Given the description of an element on the screen output the (x, y) to click on. 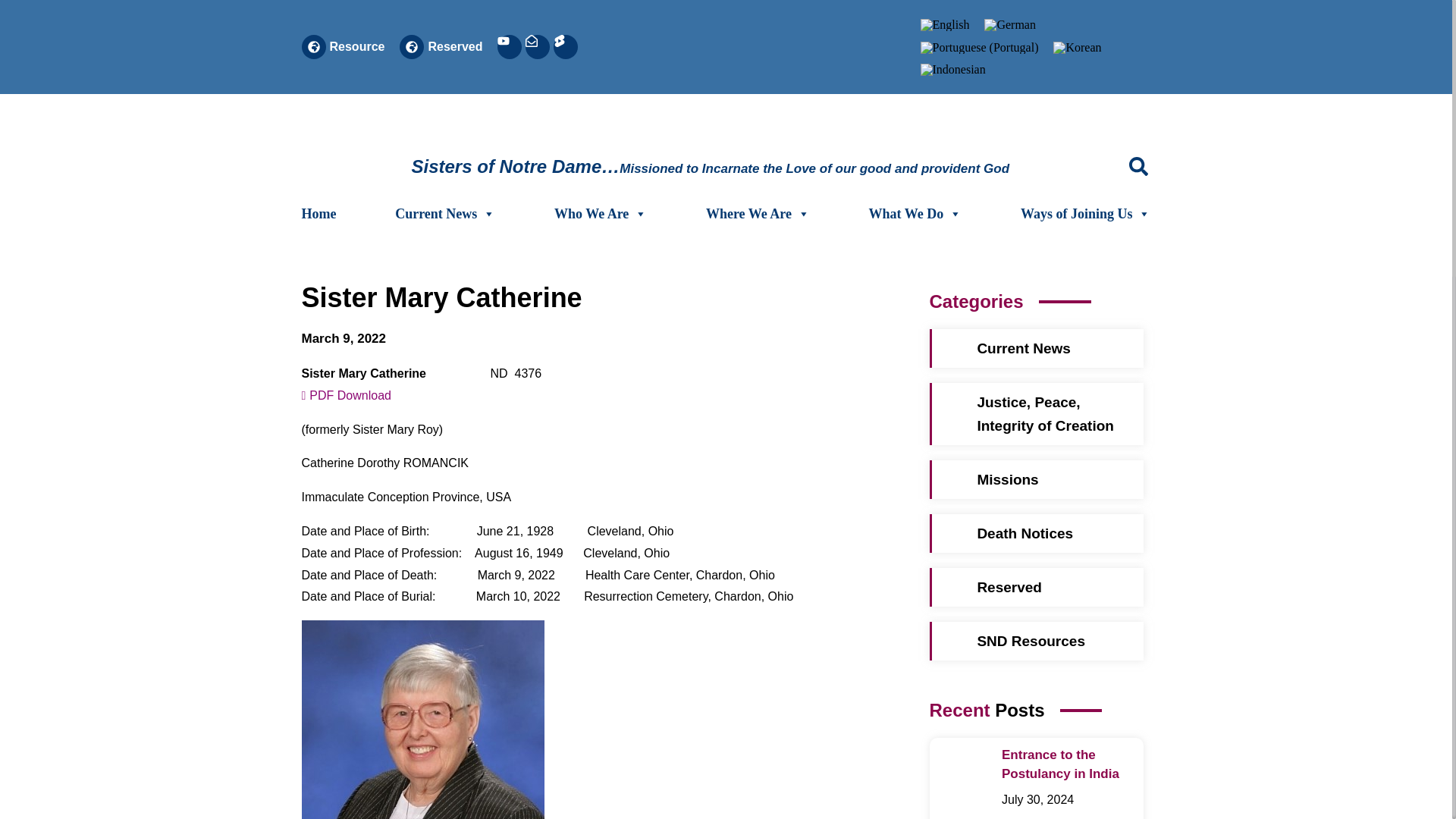
Reserved (454, 46)
Home (318, 214)
Where We Are (757, 214)
search-button (1138, 166)
Who We Are (600, 214)
Resource (356, 46)
Current News (444, 214)
